Given the description of an element on the screen output the (x, y) to click on. 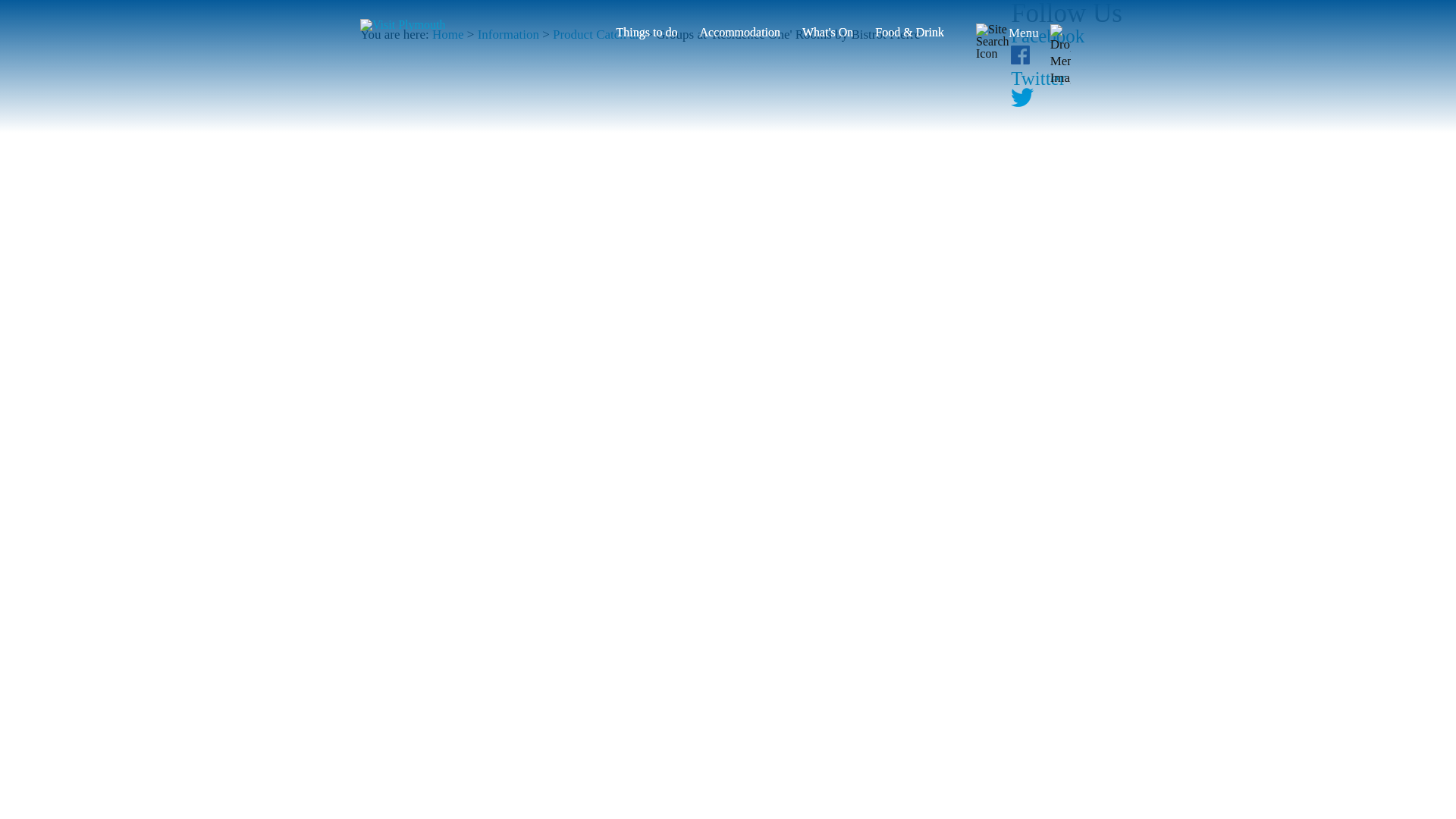
Facebook (1047, 35)
Twitter (1037, 77)
